Given the description of an element on the screen output the (x, y) to click on. 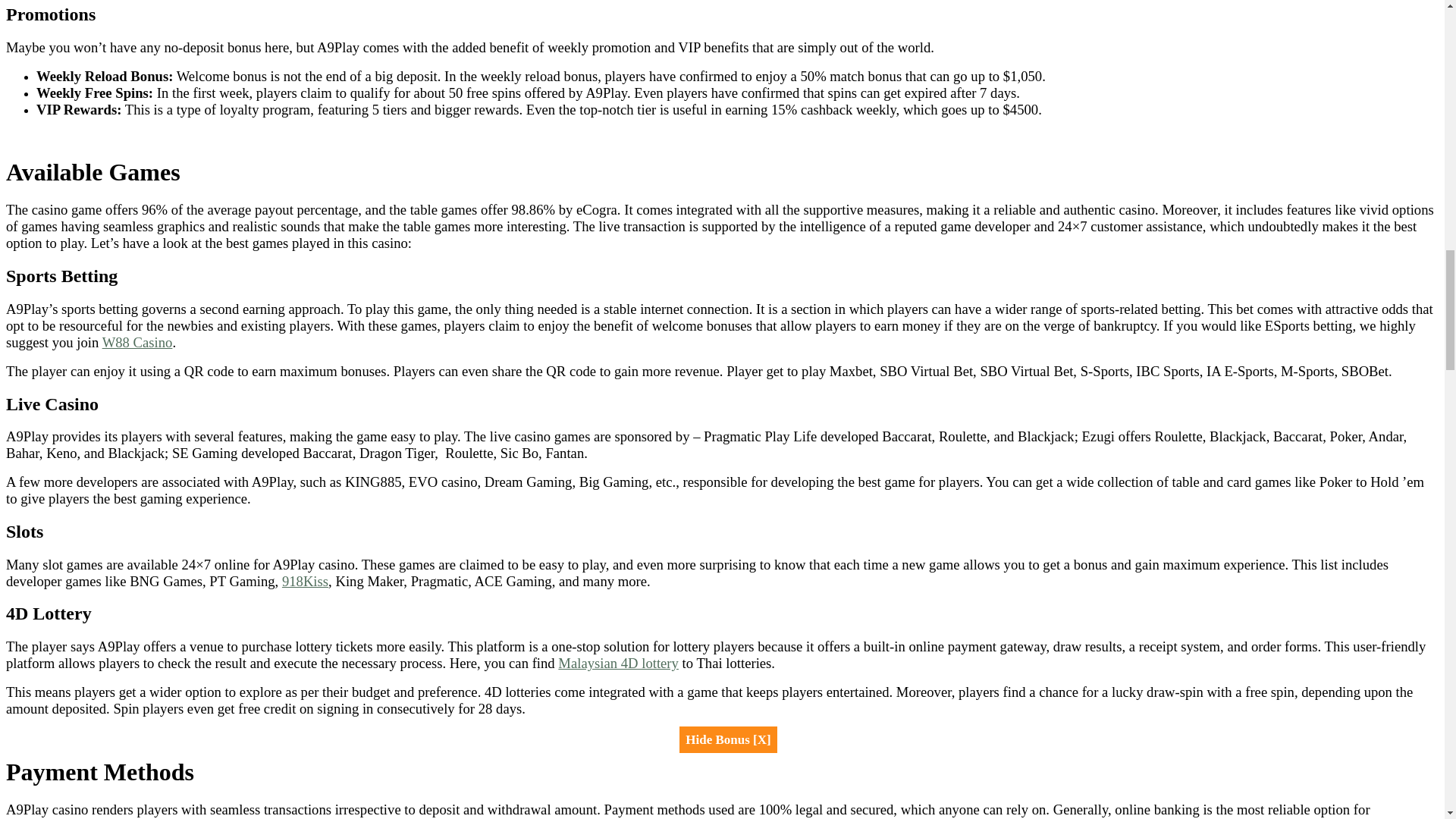
918Kiss (305, 580)
W88 Casino (137, 342)
